Given the description of an element on the screen output the (x, y) to click on. 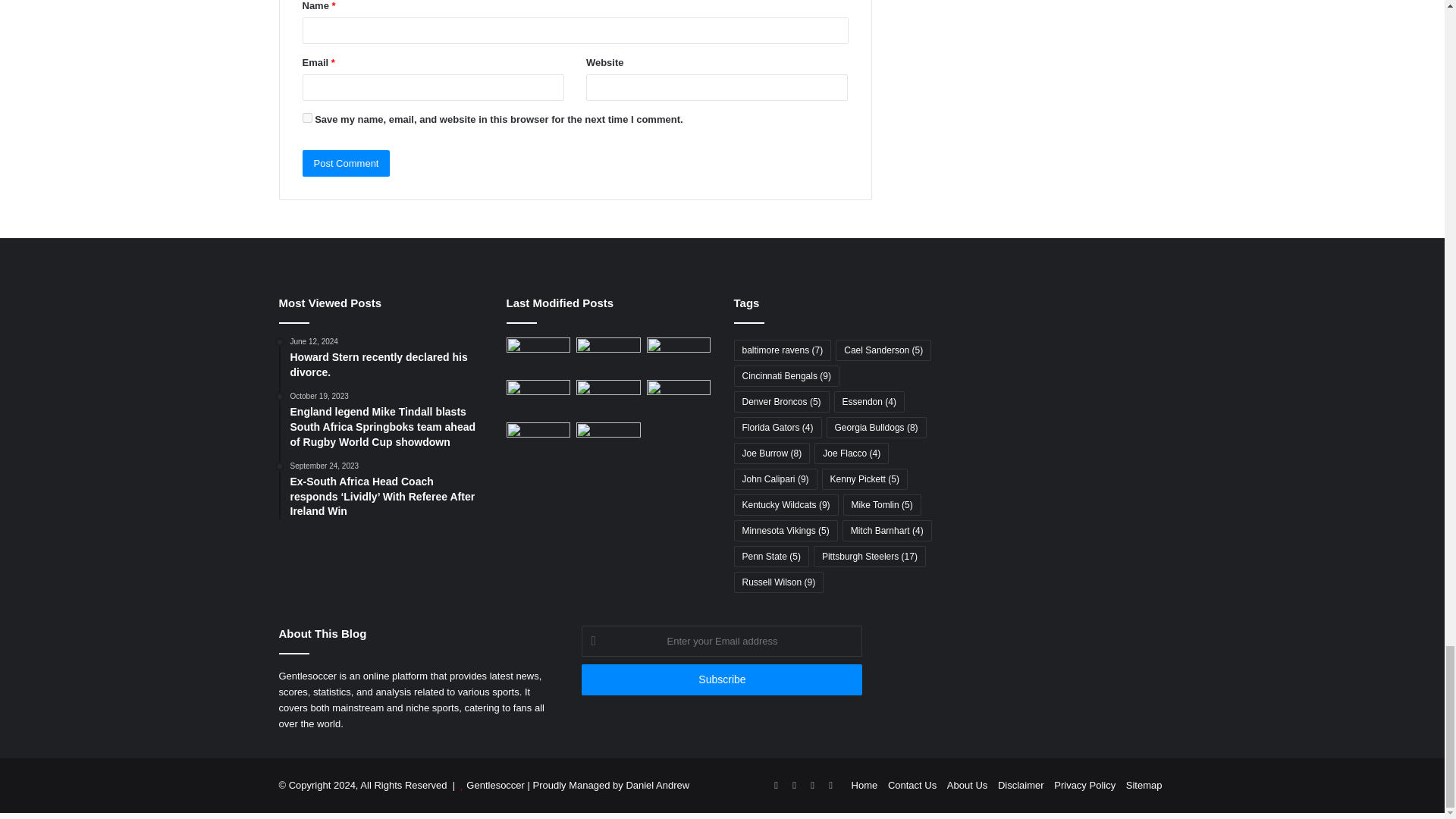
yes (306, 117)
Subscribe (720, 679)
Post Comment (345, 162)
